Given the description of an element on the screen output the (x, y) to click on. 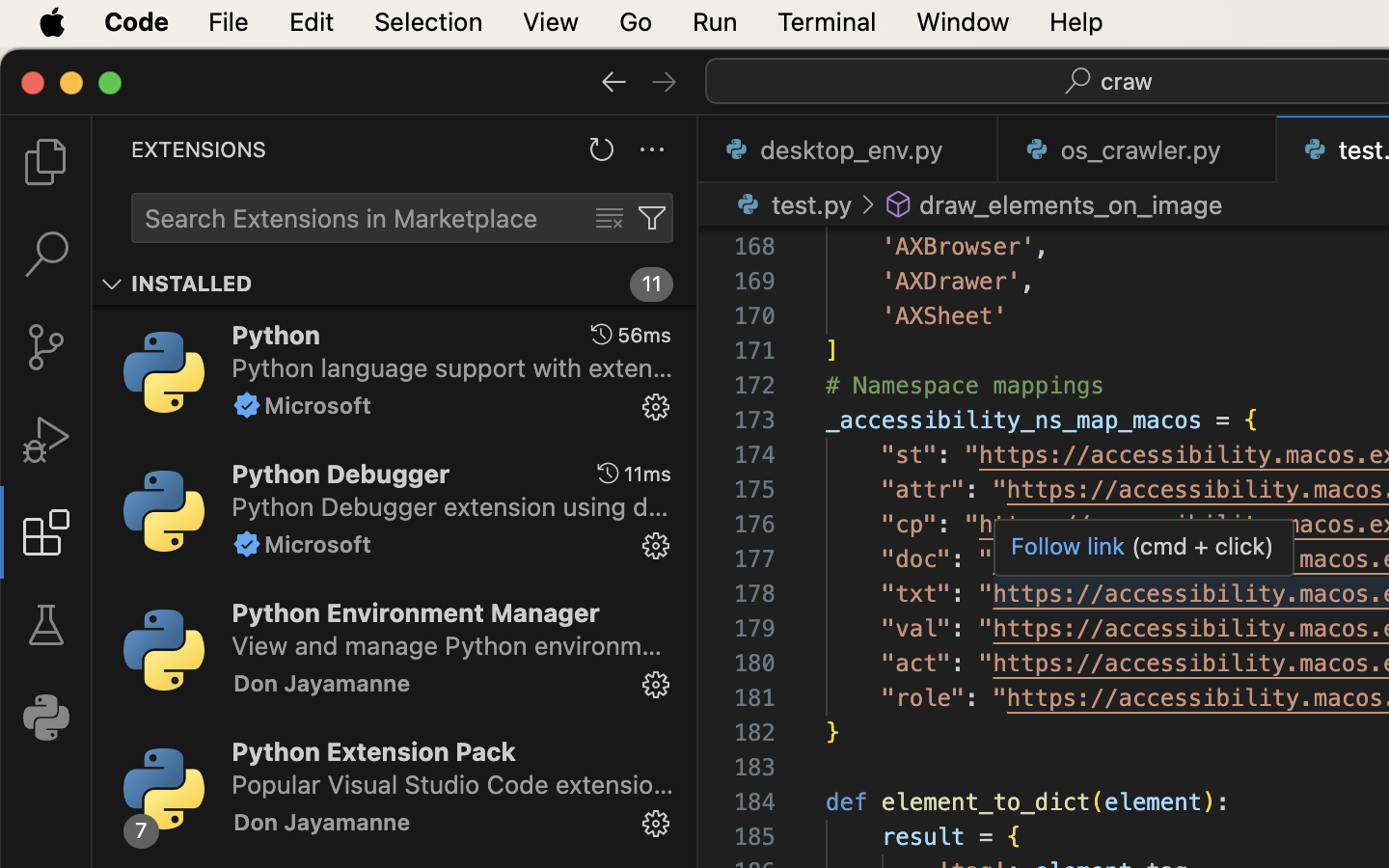
Python Debugger Element type: AXStaticText (341, 473)
11ms Element type: AXStaticText (647, 473)
 Element type: AXStaticText (602, 334)
draw_elements_on_image Element type: AXGroup (1071, 204)
0 Element type: AXRadioButton (46, 717)
